Given the description of an element on the screen output the (x, y) to click on. 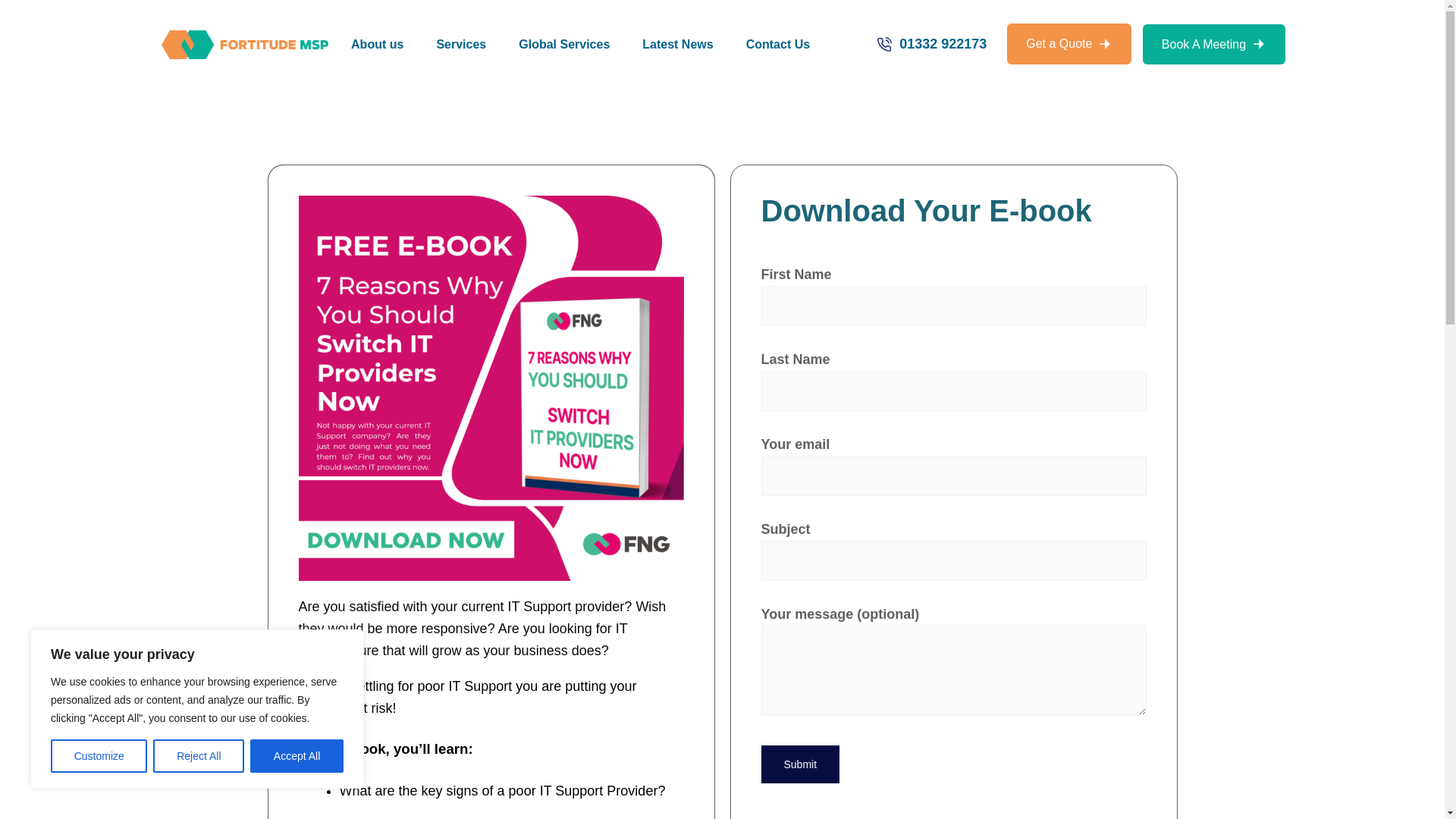
Global Services (563, 44)
Submit (800, 763)
Accept All (296, 756)
About us (376, 44)
Contact Us (778, 44)
Latest News (676, 44)
Get a Quote (1069, 43)
Book A Meeting (1213, 44)
Reject All (198, 756)
Services (461, 44)
01332 922173 (943, 44)
Submit (800, 763)
Customize (98, 756)
